Given the description of an element on the screen output the (x, y) to click on. 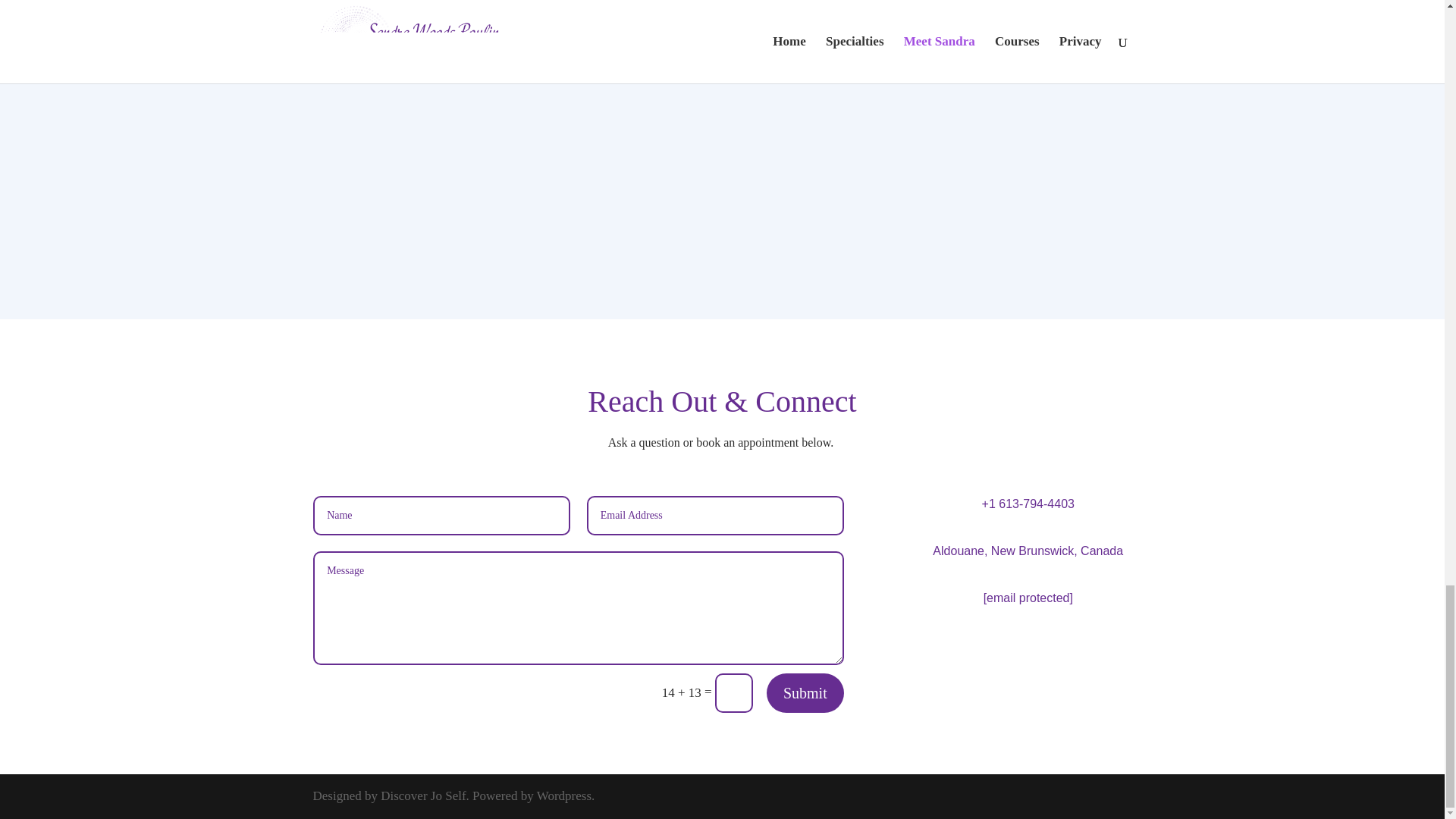
Submit (805, 692)
